Given the description of an element on the screen output the (x, y) to click on. 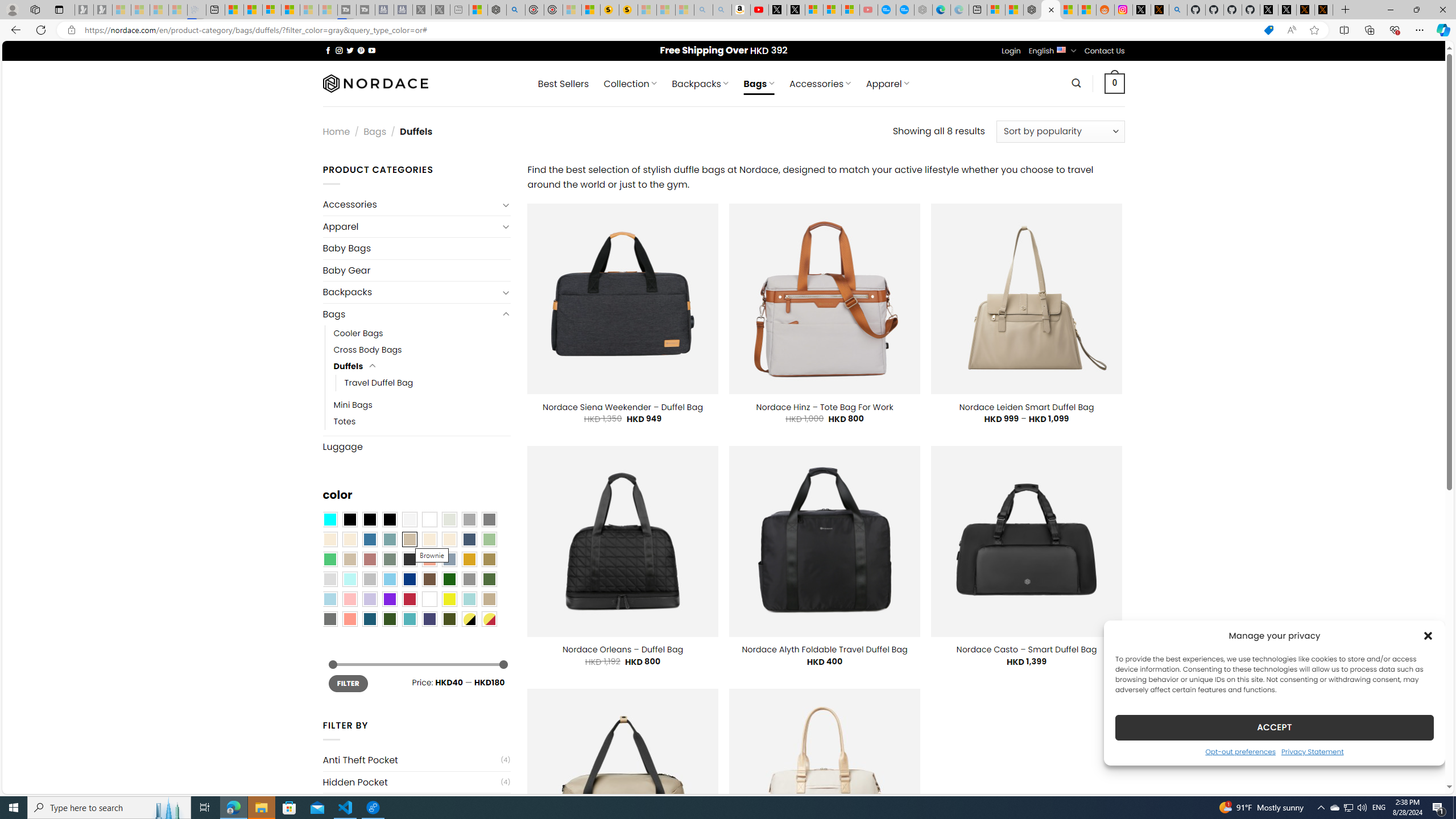
Mini Bags (352, 404)
X Privacy Policy (1324, 9)
Baby Bags (416, 248)
Accessories (410, 204)
New tab - Sleeping (459, 9)
Black-Brown (389, 519)
Duffels (348, 366)
Brownie (408, 539)
